Given the description of an element on the screen output the (x, y) to click on. 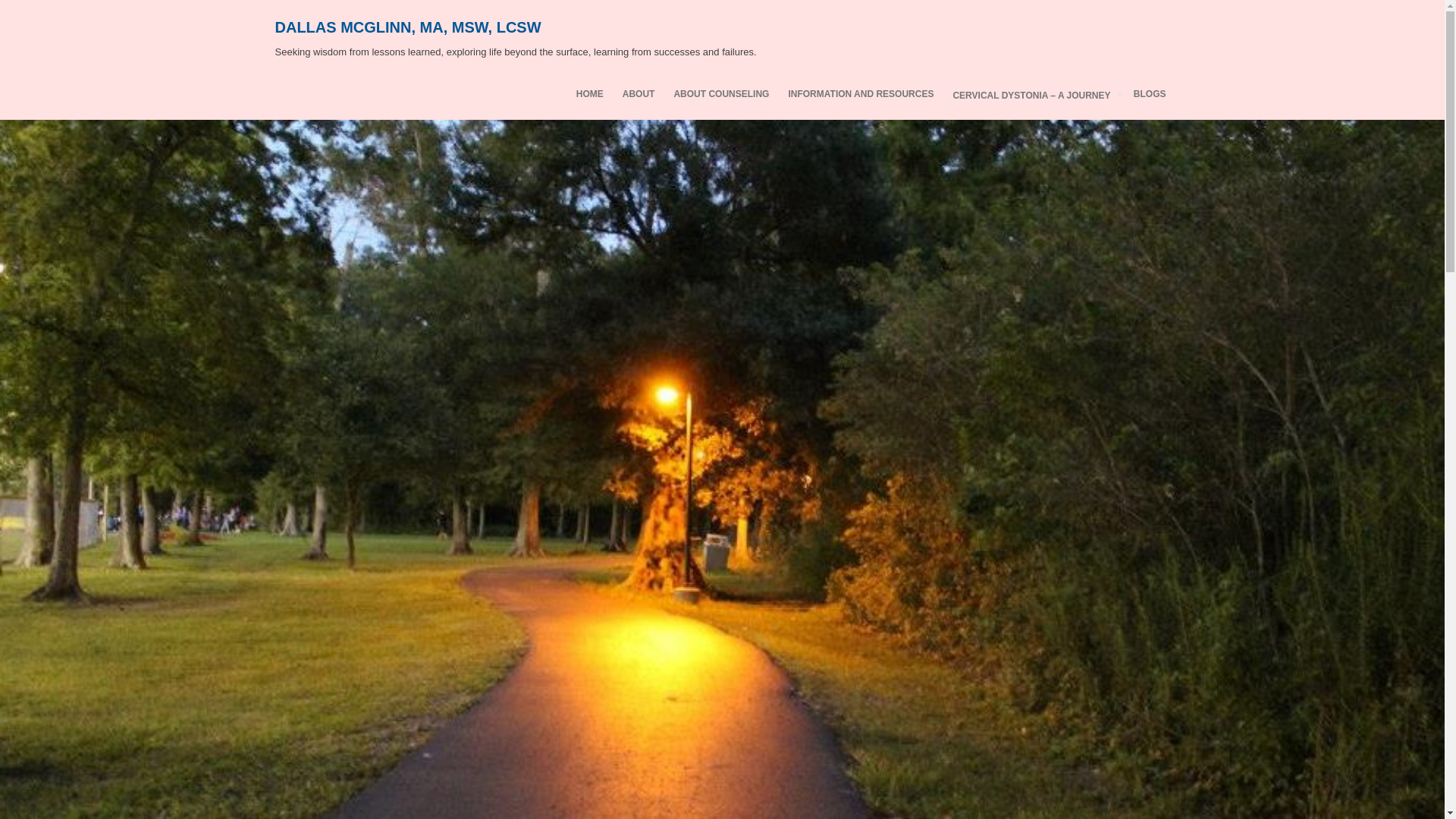
ABOUT COUNSELING (720, 92)
HOME (590, 92)
INFORMATION AND RESOURCES (860, 92)
DALLAS MCGLINN, MA, MSW, LCSW (407, 27)
ABOUT (638, 92)
BLOGS (1149, 92)
